Given the description of an element on the screen output the (x, y) to click on. 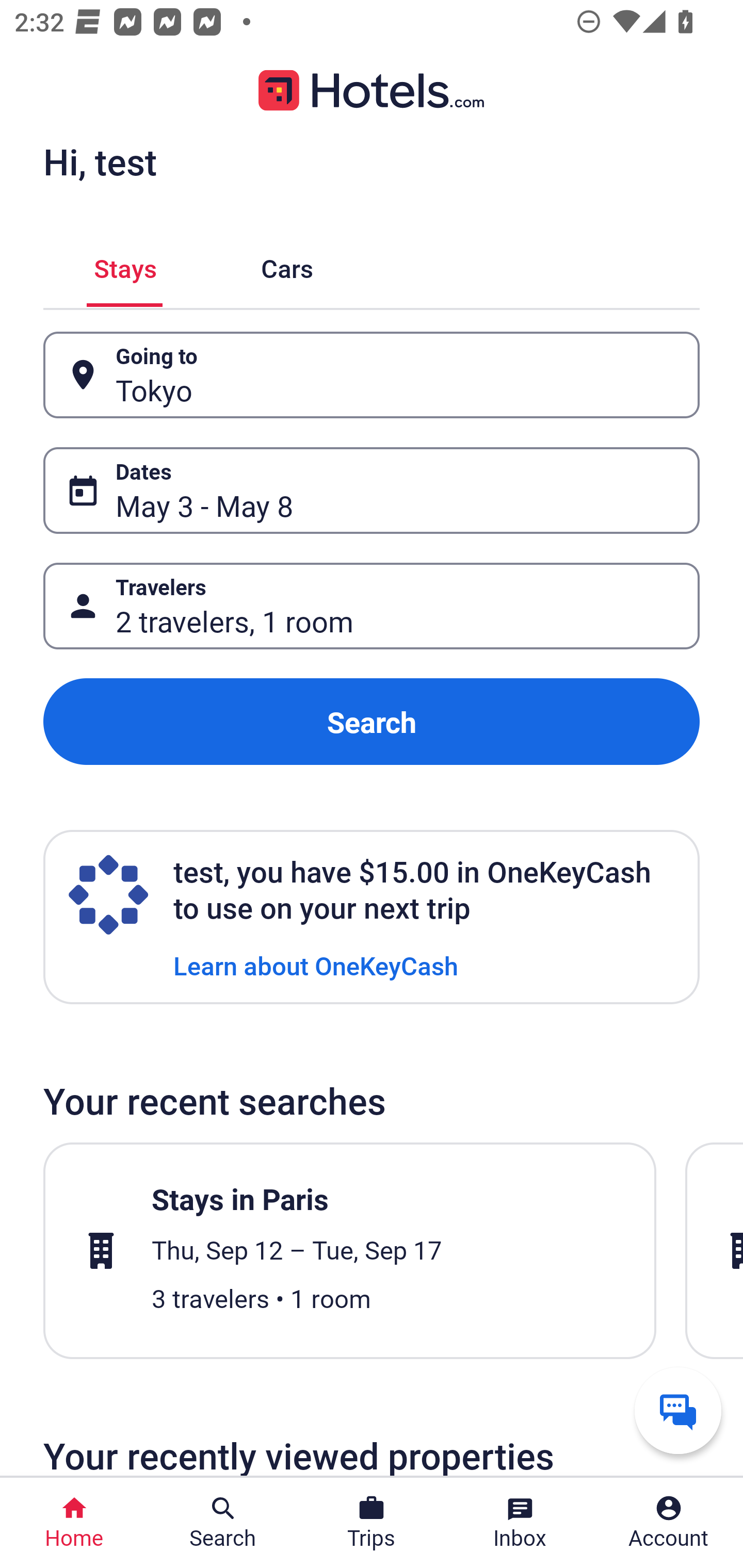
Hi, test (99, 161)
Cars (286, 265)
Going to Button Tokyo (371, 375)
Dates Button May 3 - May 8 (371, 489)
Travelers Button 2 travelers, 1 room (371, 605)
Search (371, 721)
Learn about OneKeyCash Learn about OneKeyCash Link (315, 964)
Get help from a virtual agent (677, 1410)
Search Search Button (222, 1522)
Trips Trips Button (371, 1522)
Inbox Inbox Button (519, 1522)
Account Profile. Button (668, 1522)
